Given the description of an element on the screen output the (x, y) to click on. 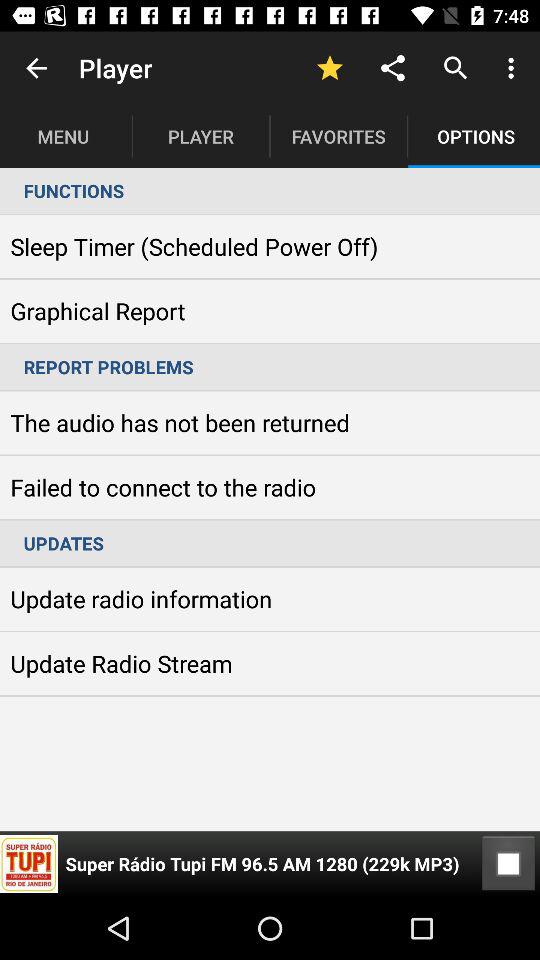
launch icon to the right of player item (329, 67)
